Given the description of an element on the screen output the (x, y) to click on. 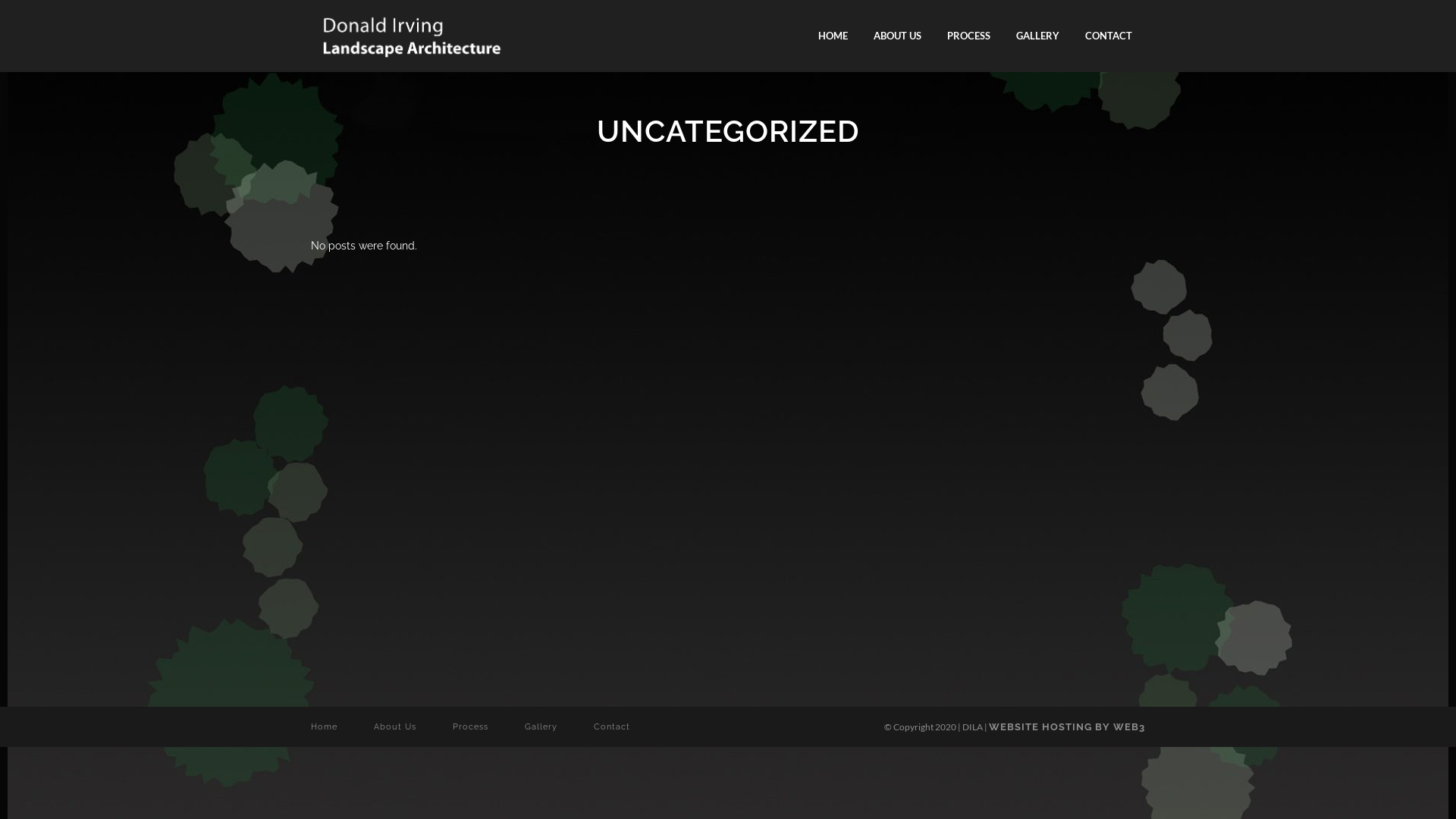
GALLERY Element type: text (1037, 36)
Process Element type: text (470, 726)
ABOUT US Element type: text (897, 36)
About Us Element type: text (394, 726)
PROCESS Element type: text (968, 36)
Gallery Element type: text (540, 726)
Home Element type: text (323, 726)
HOME Element type: text (832, 36)
WEBSITE HOSTING BY WEB3 Element type: text (1066, 725)
CONTACT Element type: text (1108, 36)
Contact Element type: text (611, 726)
